Given the description of an element on the screen output the (x, y) to click on. 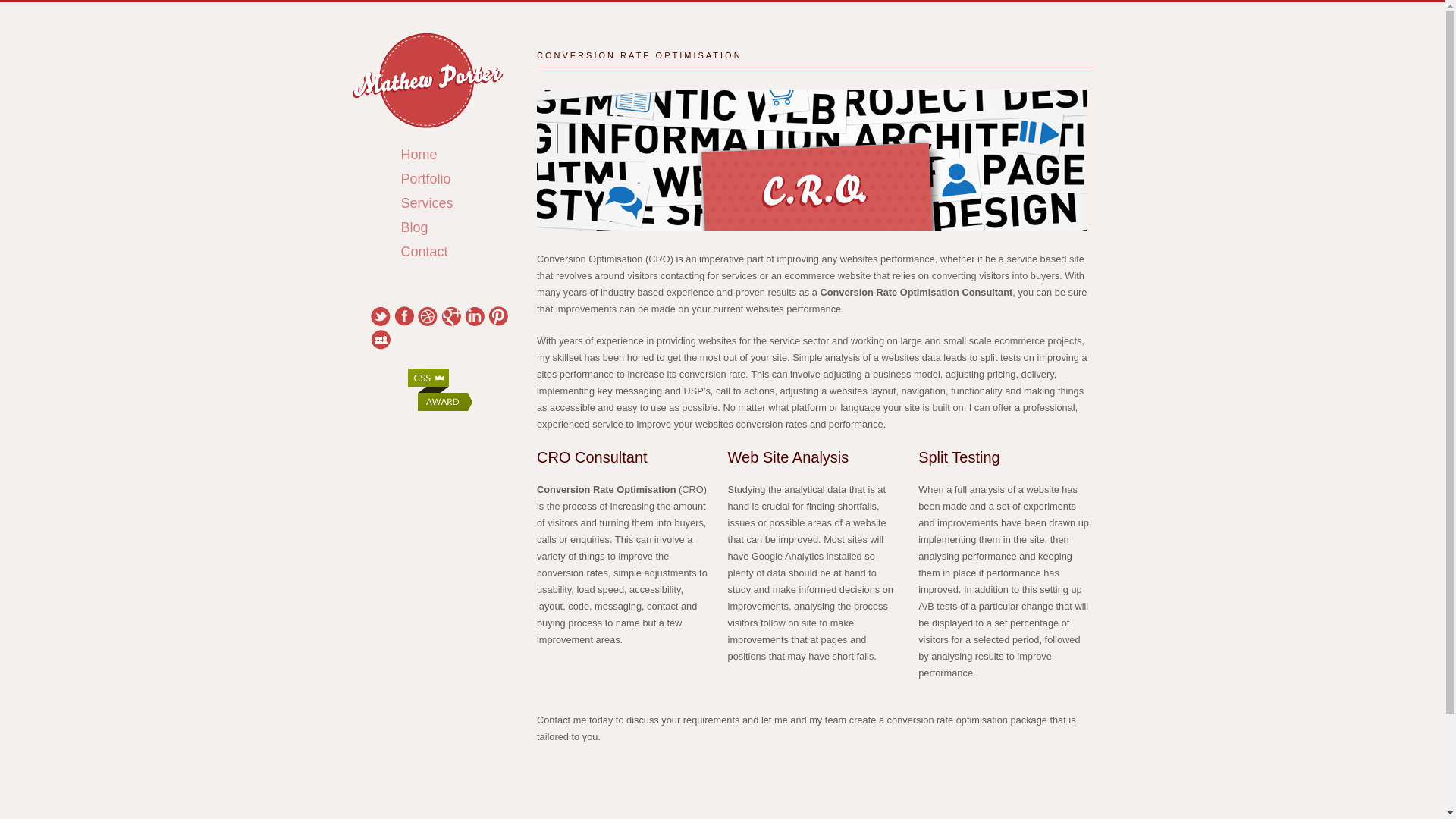
Follow Mathew Porter on Twitter (379, 315)
Mathew Porter on MySpace (379, 339)
Mathew Porter on Pinterest (497, 315)
Blog (429, 227)
Blog (429, 227)
Portfolio (440, 178)
Services (441, 202)
Contact (439, 251)
Find Mathew Porter on Dribbble (426, 315)
Portfolio (440, 178)
Home (433, 154)
Connect with Mathew Porter on LinkedIn (473, 315)
Contact (439, 251)
Home (433, 154)
Like Mathew Porter on Facebook (403, 315)
